Given the description of an element on the screen output the (x, y) to click on. 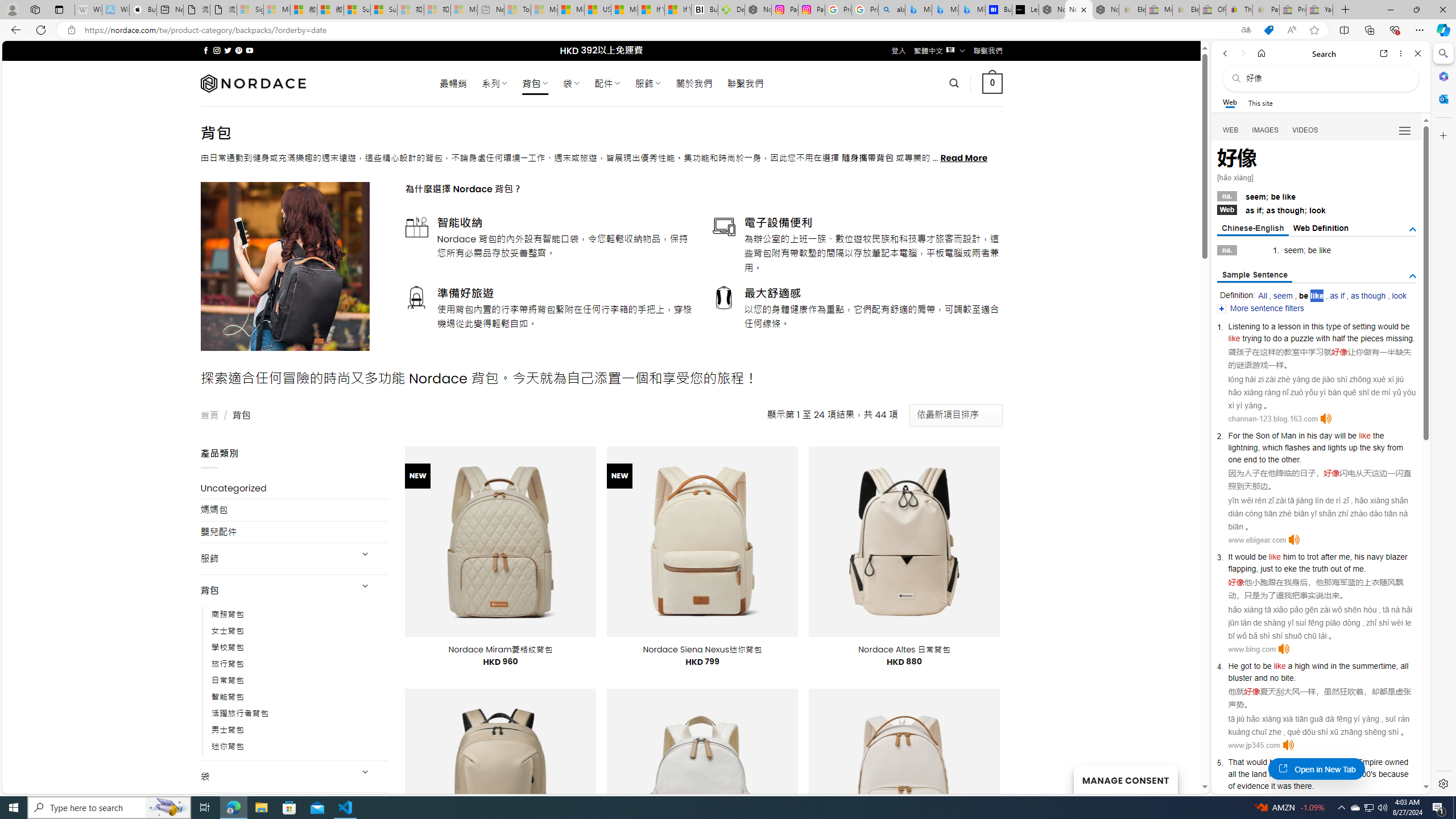
lesson (1288, 325)
trot (1313, 556)
him (1288, 556)
flapping (1241, 568)
Follow on Facebook (205, 50)
Show translate options (1245, 29)
